Given the description of an element on the screen output the (x, y) to click on. 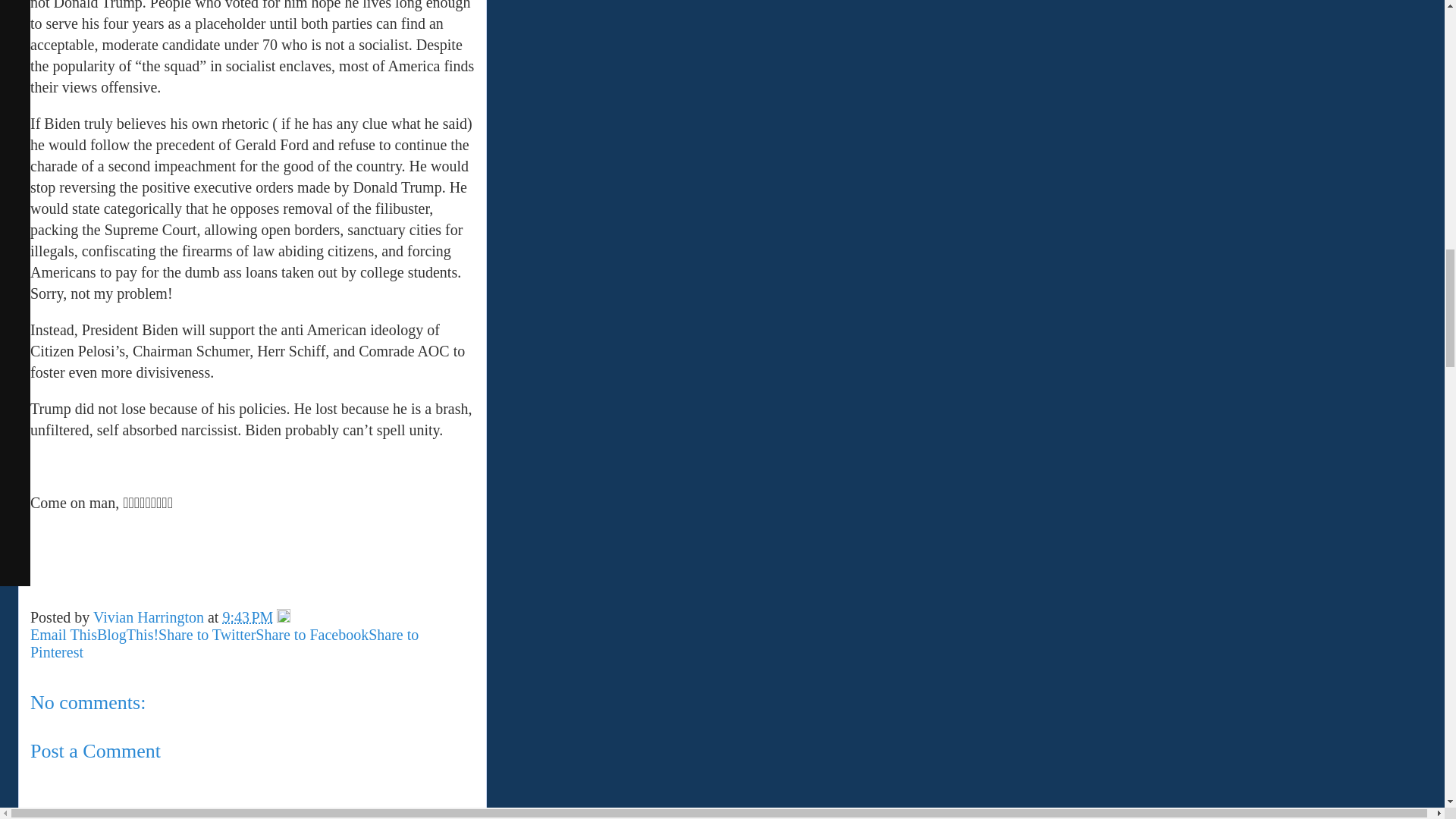
BlogThis! (127, 634)
Share to Twitter (207, 634)
Share to Facebook (312, 634)
Share to Pinterest (224, 643)
permanent link (247, 617)
Share to Twitter (207, 634)
Share to Pinterest (224, 643)
author profile (150, 617)
Vivian Harrington (150, 617)
Email This (63, 634)
Email This (63, 634)
Share to Facebook (312, 634)
BlogThis! (127, 634)
